Given the description of an element on the screen output the (x, y) to click on. 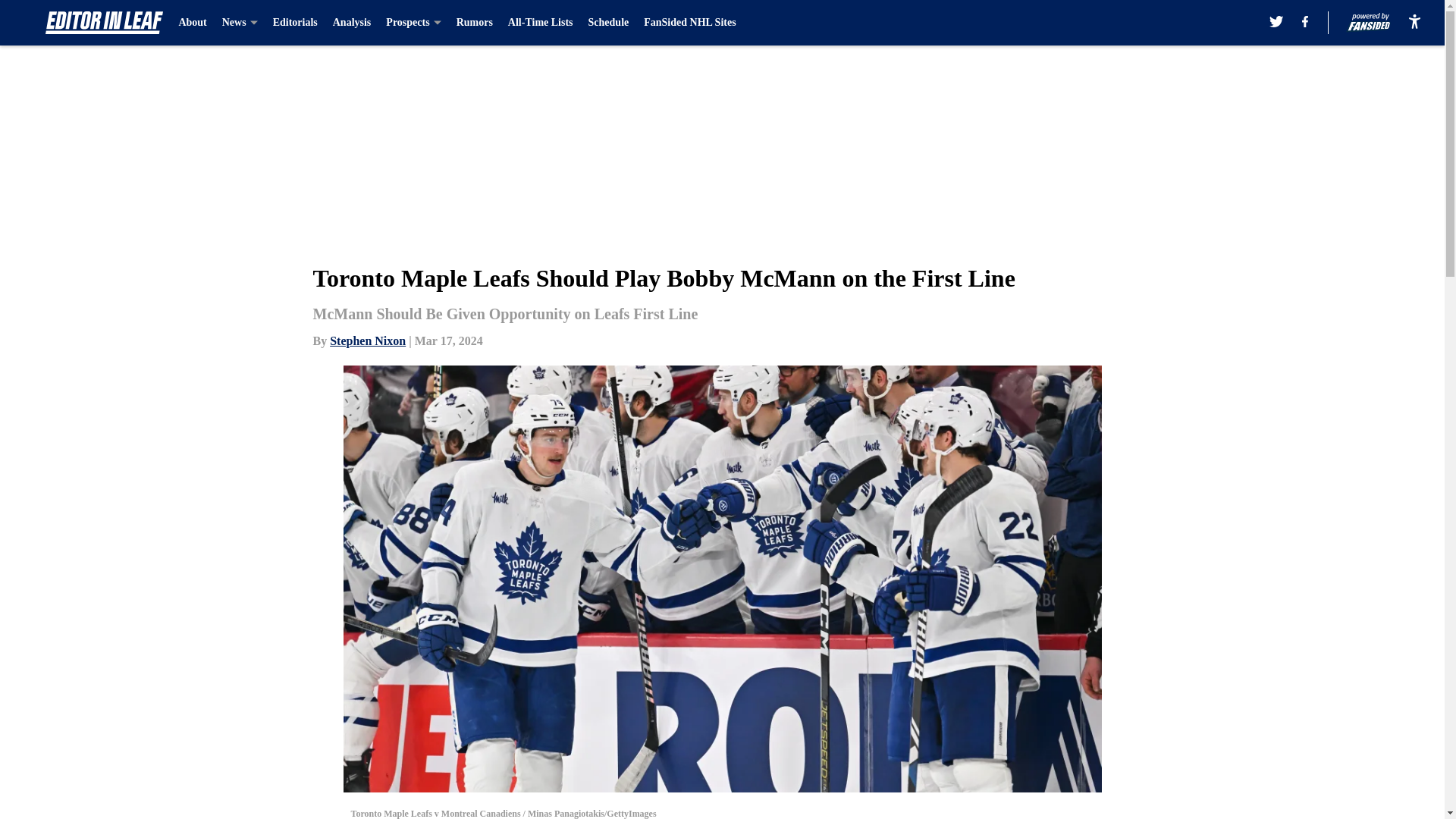
Rumors (475, 22)
Schedule (608, 22)
Analysis (352, 22)
Stephen Nixon (368, 340)
Editorials (295, 22)
FanSided NHL Sites (689, 22)
About (191, 22)
All-Time Lists (540, 22)
